Given the description of an element on the screen output the (x, y) to click on. 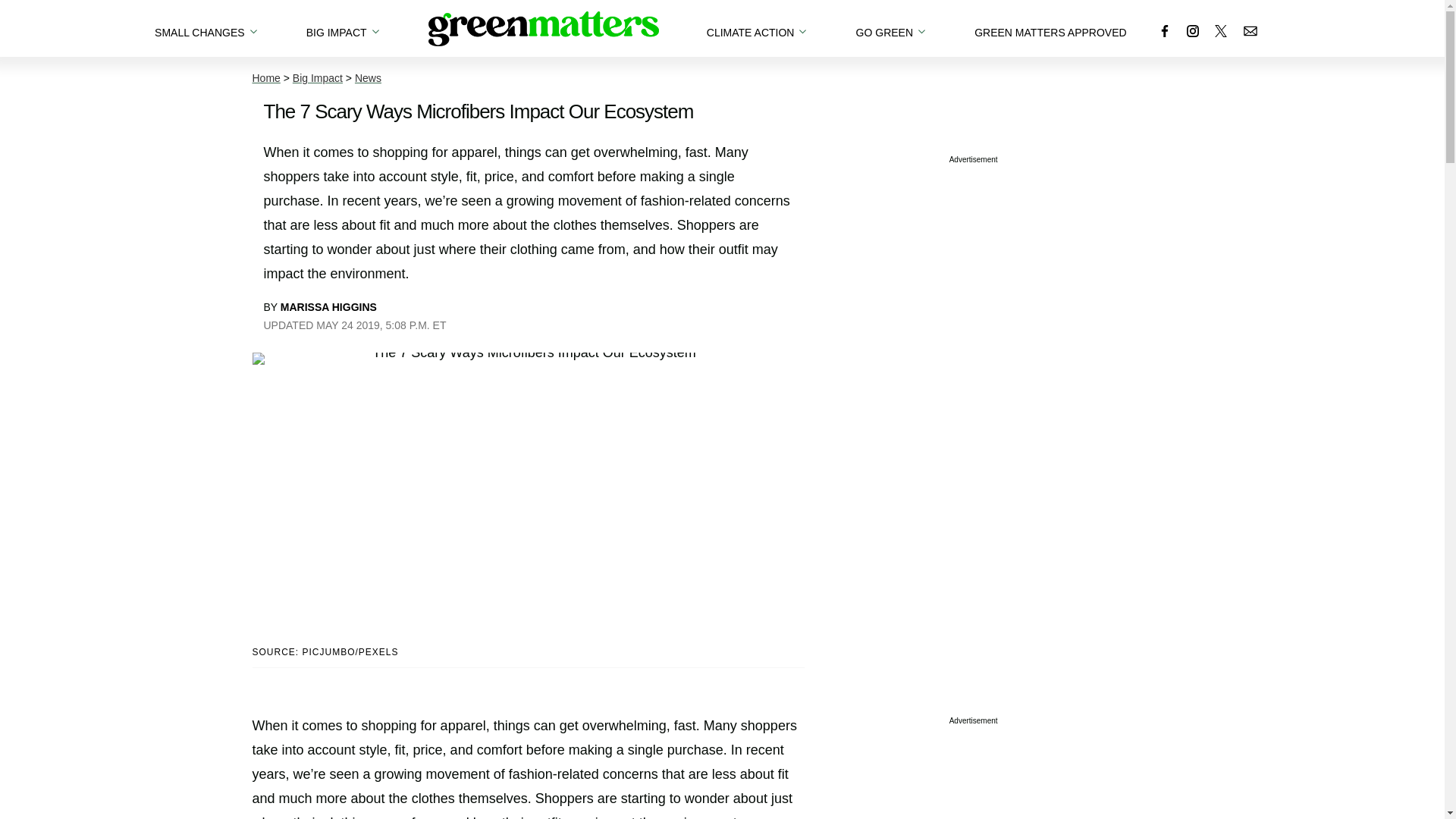
LINK TO X (1220, 27)
LINK TO EMAIL SUBSCRIBE (1250, 30)
LINK TO FACEBOOK (1164, 30)
LINK TO INSTAGRAM (1192, 27)
GREEN MATTERS APPROVED (1049, 27)
LINK TO FACEBOOK (1164, 27)
LINK TO INSTAGRAM (1192, 30)
LINK TO X (1220, 30)
LINK TO EMAIL SUBSCRIBE (1250, 28)
